Given the description of an element on the screen output the (x, y) to click on. 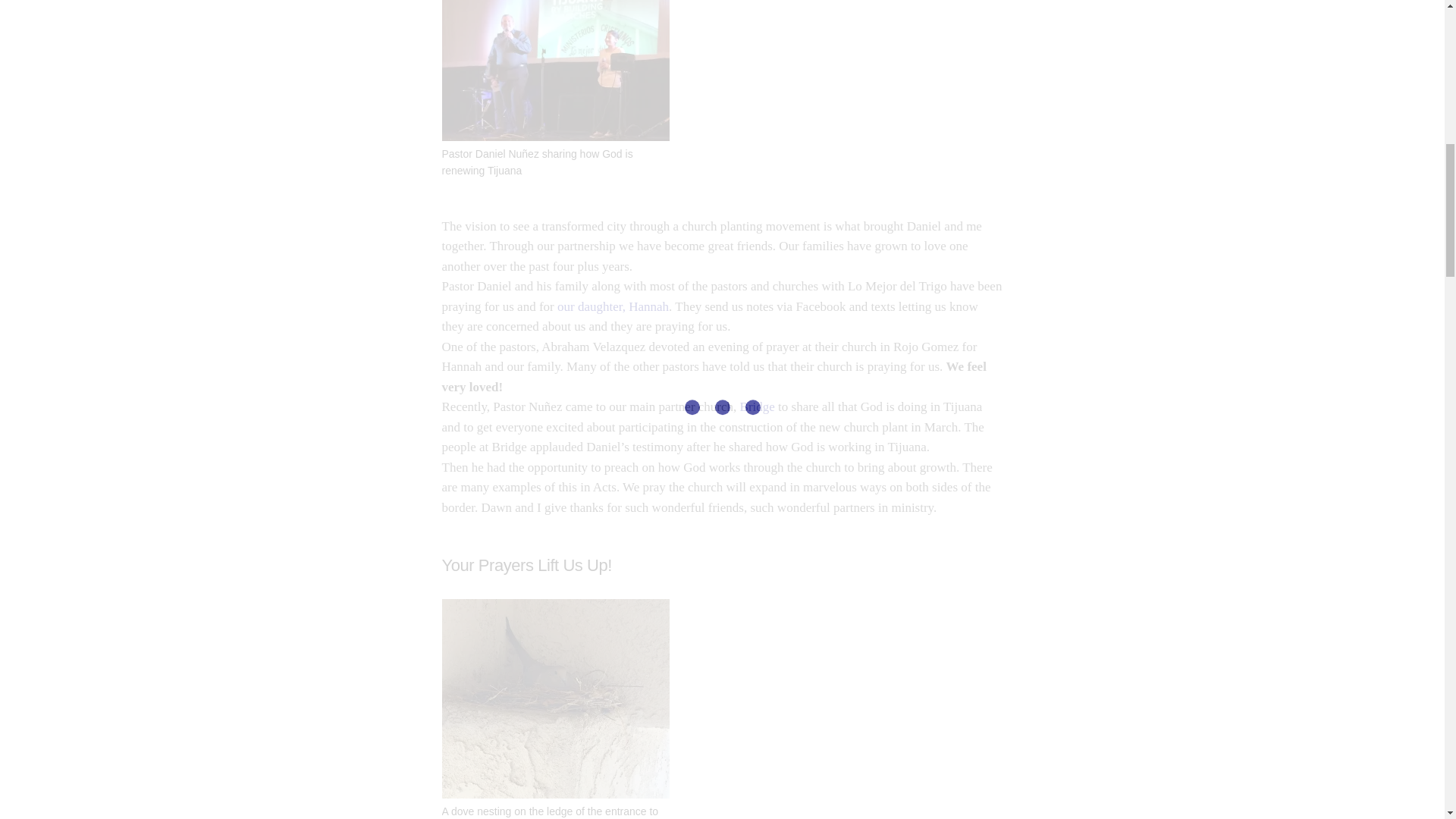
Storming Heaven With Prayer! (612, 306)
our daughter, Hannah (612, 306)
Bridge (756, 406)
